Given the description of an element on the screen output the (x, y) to click on. 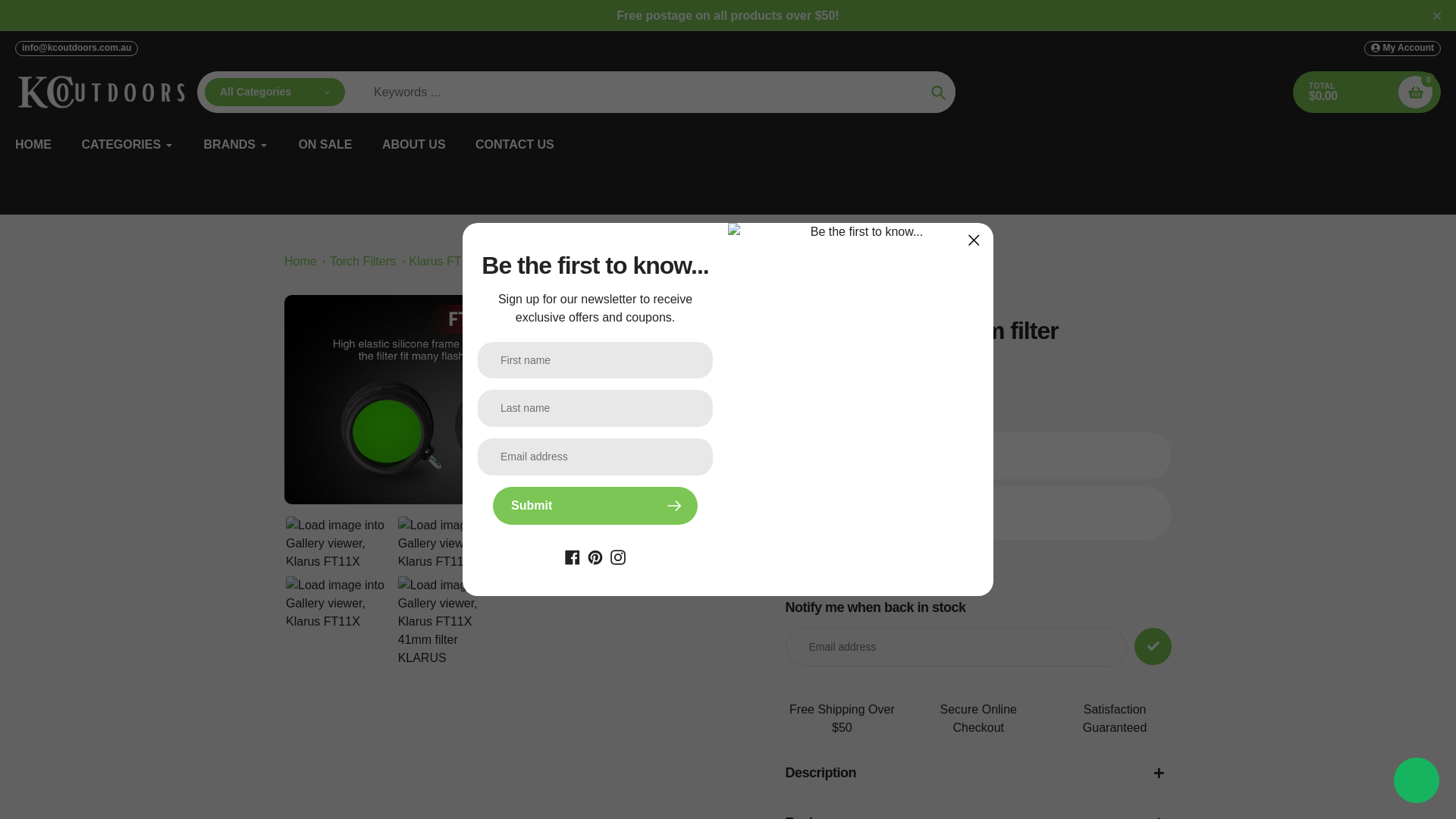
Green (952, 455)
Instagram (618, 555)
My Account (1402, 48)
Shopify online store chat (1416, 781)
0 (1414, 92)
Facebook (571, 555)
CATEGORIES (127, 144)
Blue (919, 455)
HOME (32, 144)
Red (886, 455)
KLARUS (807, 356)
1 (933, 513)
All Categories (275, 92)
Pinterest (595, 555)
